Given the description of an element on the screen output the (x, y) to click on. 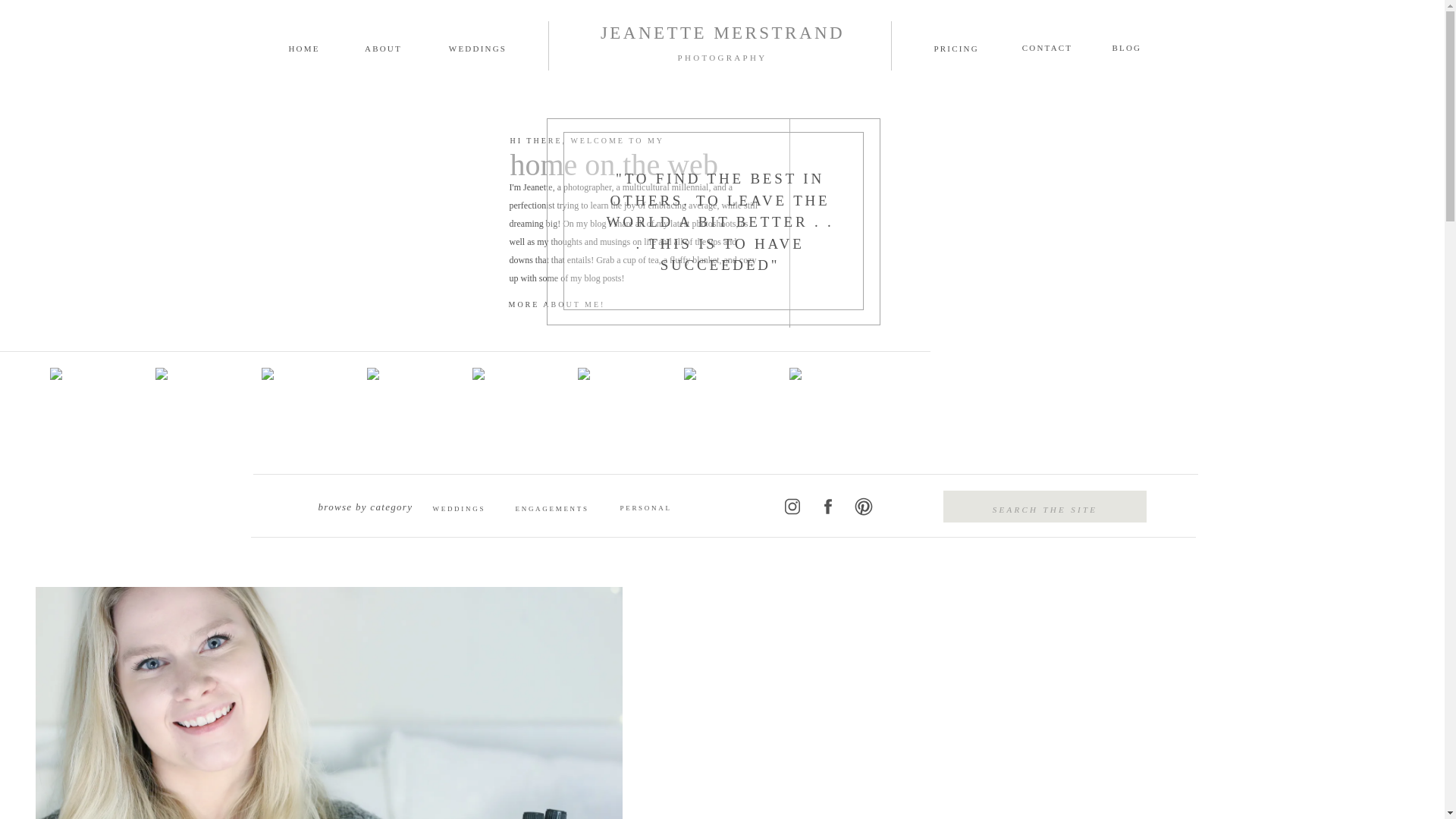
WEDDINGS (478, 46)
PRICING (974, 46)
BLOG (1152, 45)
ABOUT (383, 46)
PERSONAL (653, 507)
JEANETTE MERSTRAND (722, 38)
HOME (304, 46)
PHOTOGRAPHY (721, 61)
CONTACT (1046, 45)
MORE ABOUT ME! (593, 305)
ENGAGEMENTS (547, 508)
WEDDINGS (464, 508)
